Given the description of an element on the screen output the (x, y) to click on. 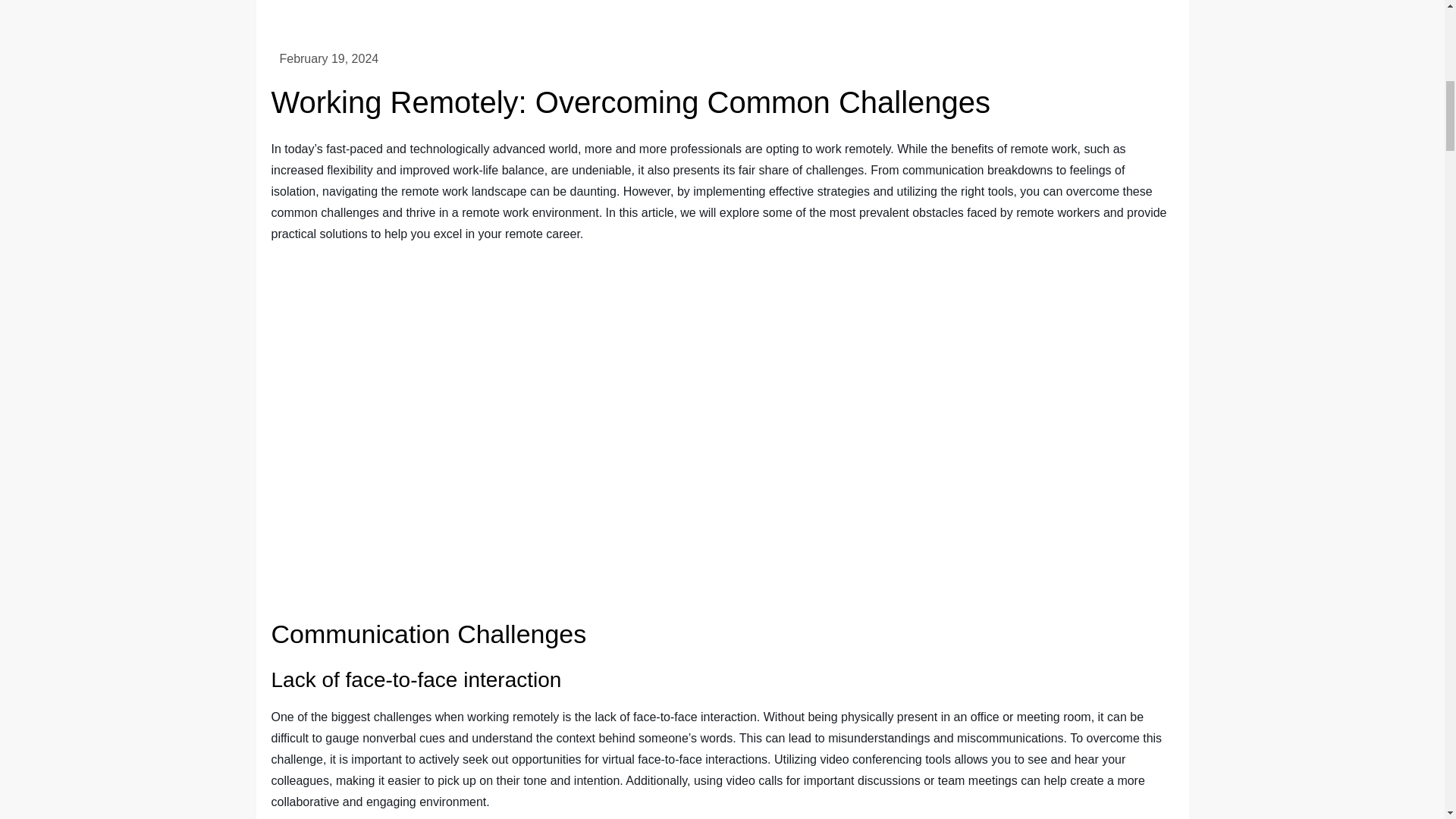
February 19, 2024 (328, 58)
